Given the description of an element on the screen output the (x, y) to click on. 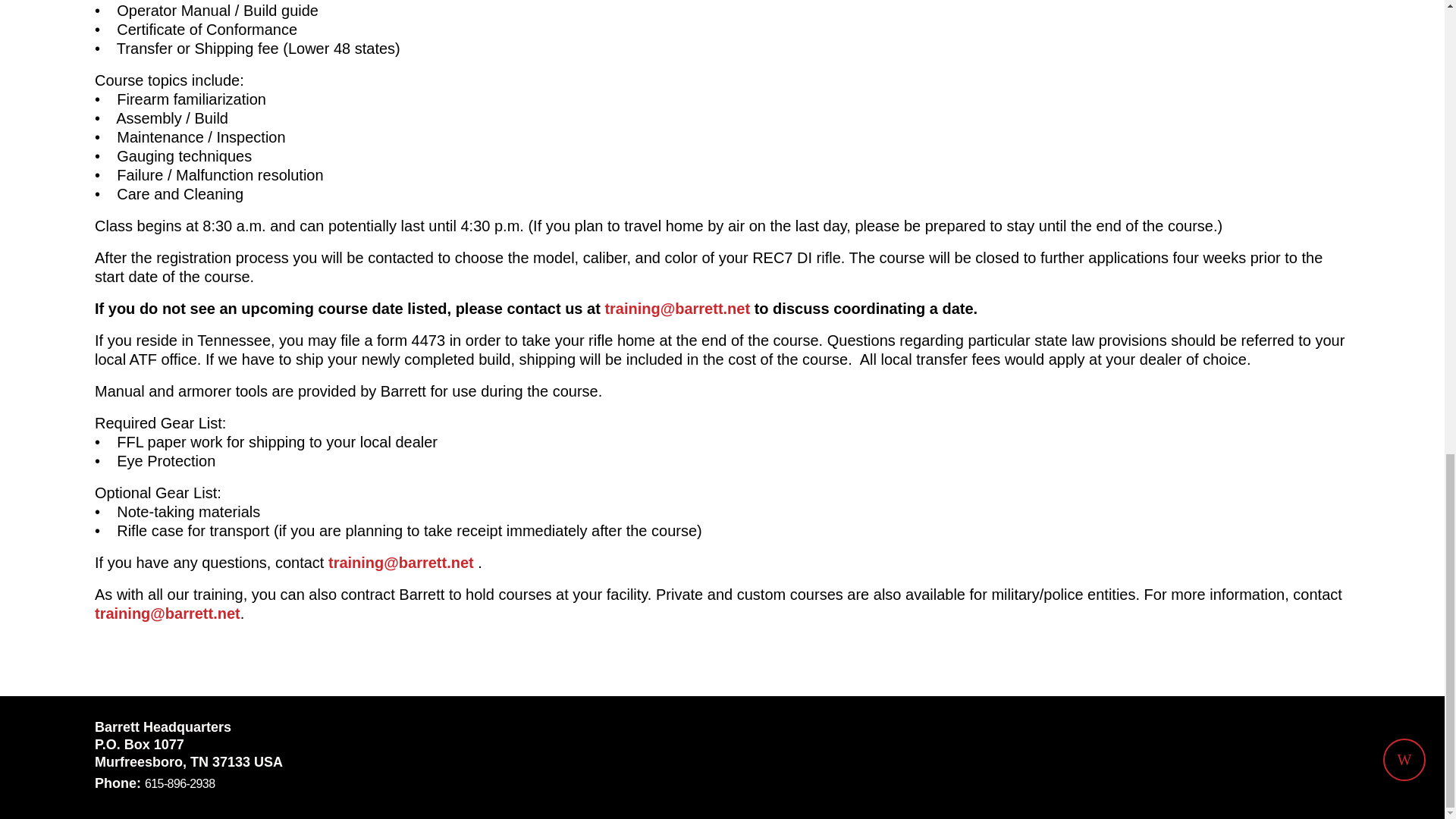
Email Us (401, 562)
Email Us (167, 613)
Email Us (676, 308)
